Given the description of an element on the screen output the (x, y) to click on. 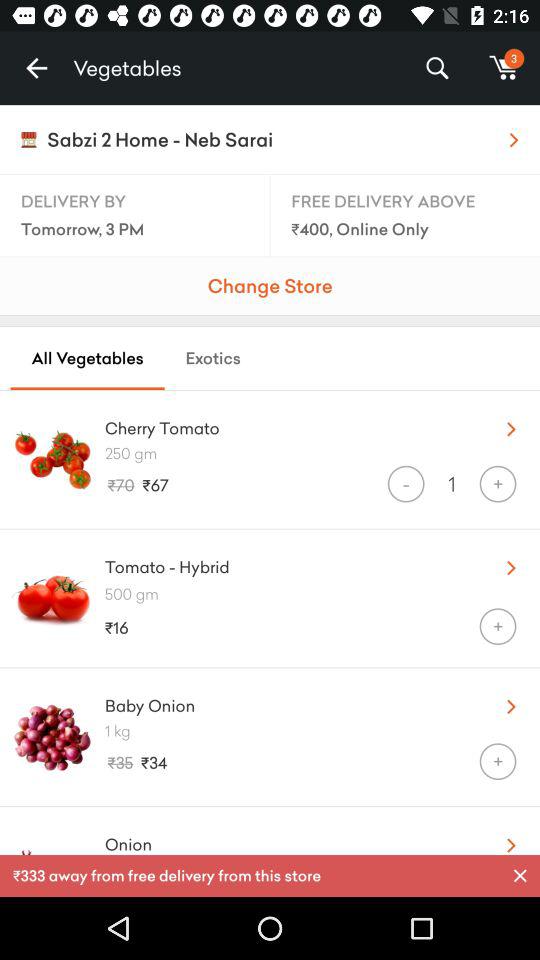
swipe to the + icon (497, 761)
